Given the description of an element on the screen output the (x, y) to click on. 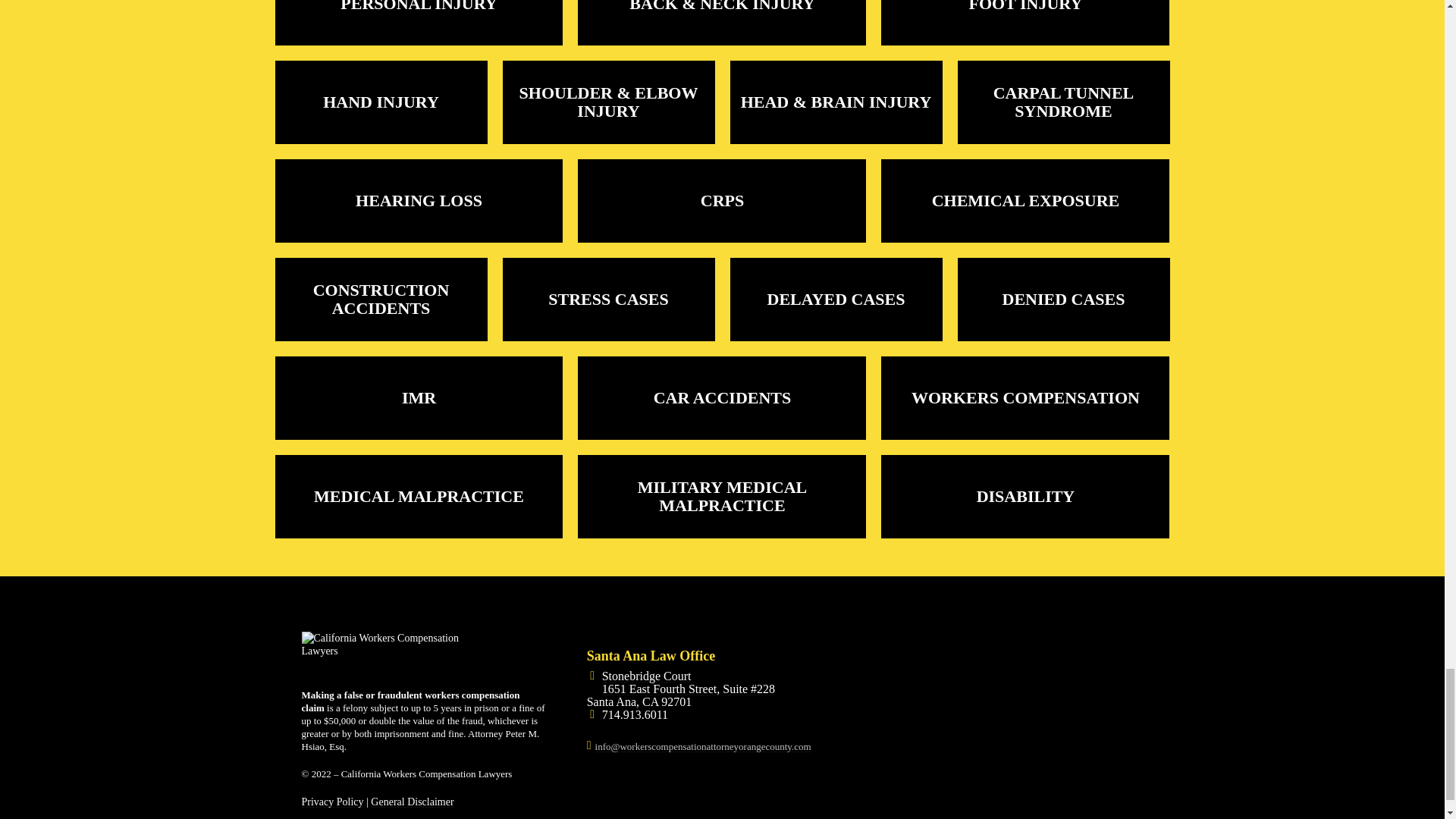
Personal Injury Attorney (418, 26)
